Given the description of an element on the screen output the (x, y) to click on. 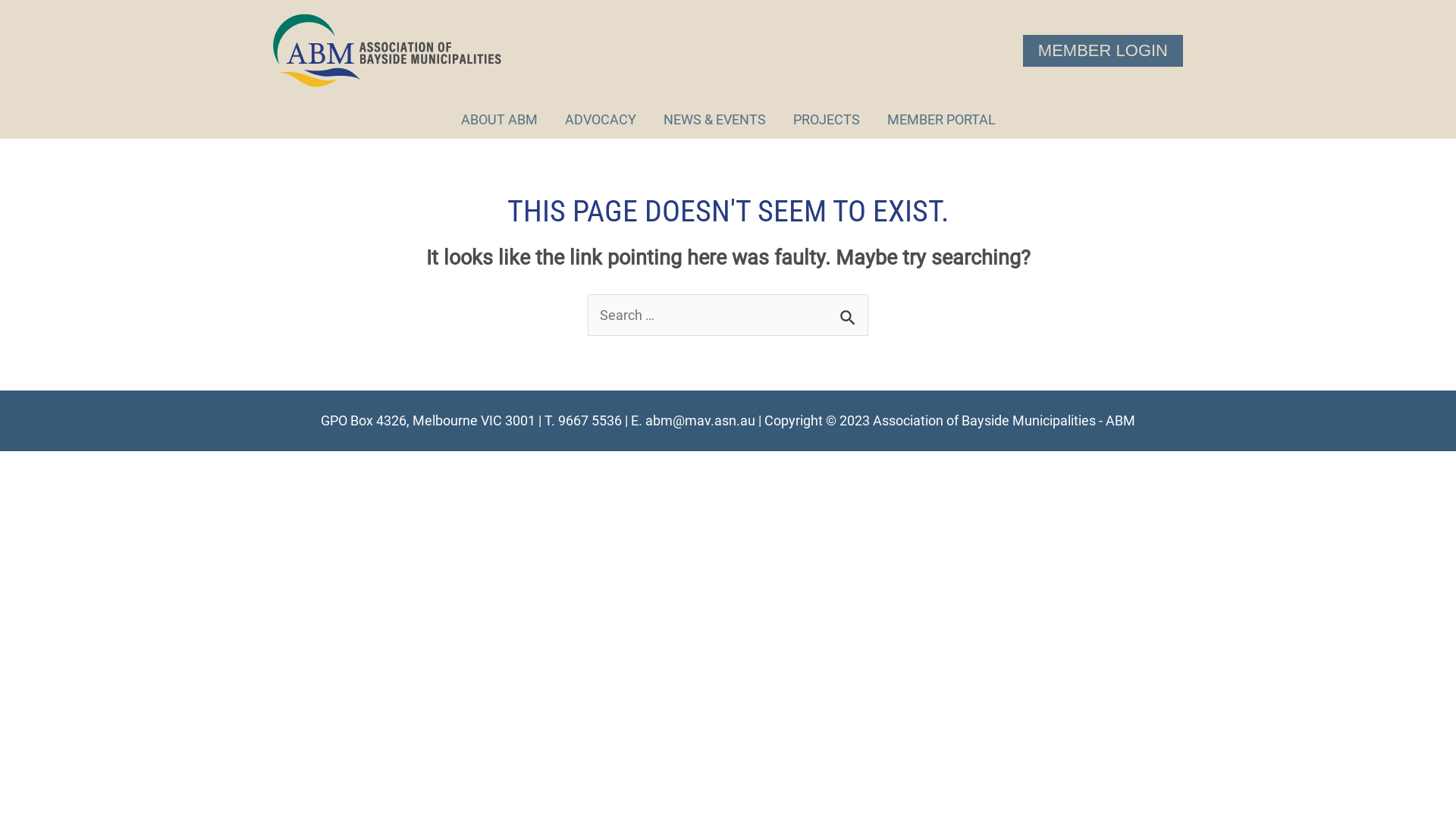
ABOUT ABM Element type: text (499, 119)
Search Element type: text (851, 312)
PROJECTS Element type: text (826, 119)
NEWS & EVENTS Element type: text (713, 119)
MEMBER PORTAL Element type: text (941, 119)
MEMBER LOGIN Element type: text (1102, 50)
ADVOCACY Element type: text (599, 119)
